Given the description of an element on the screen output the (x, y) to click on. 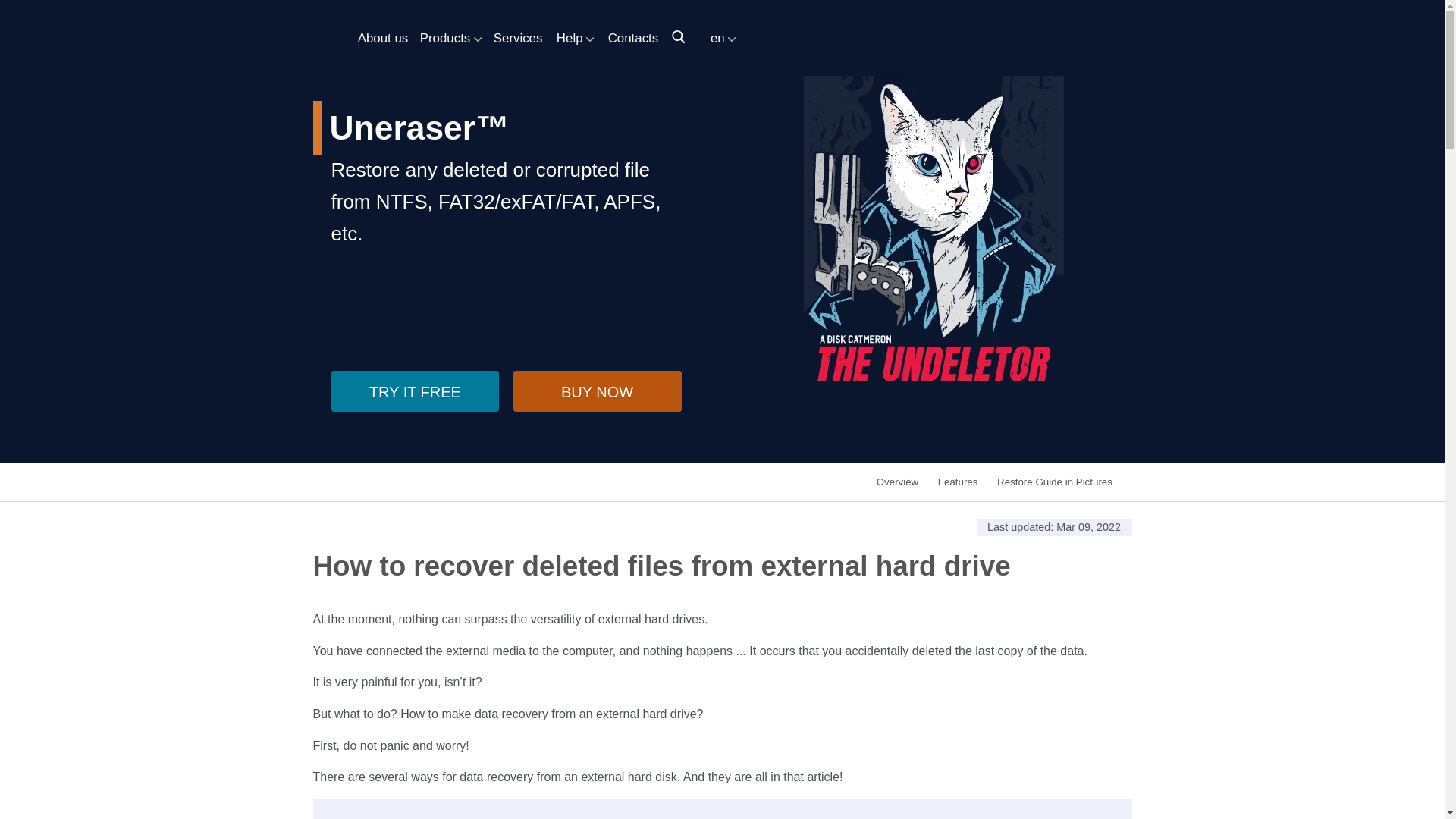
BUY NOW (597, 391)
About us (377, 33)
Restore Guide in Pictures (1054, 481)
Overview (897, 481)
TRY IT FREE (414, 391)
Features (957, 481)
Services (512, 33)
Contacts (627, 33)
